Given the description of an element on the screen output the (x, y) to click on. 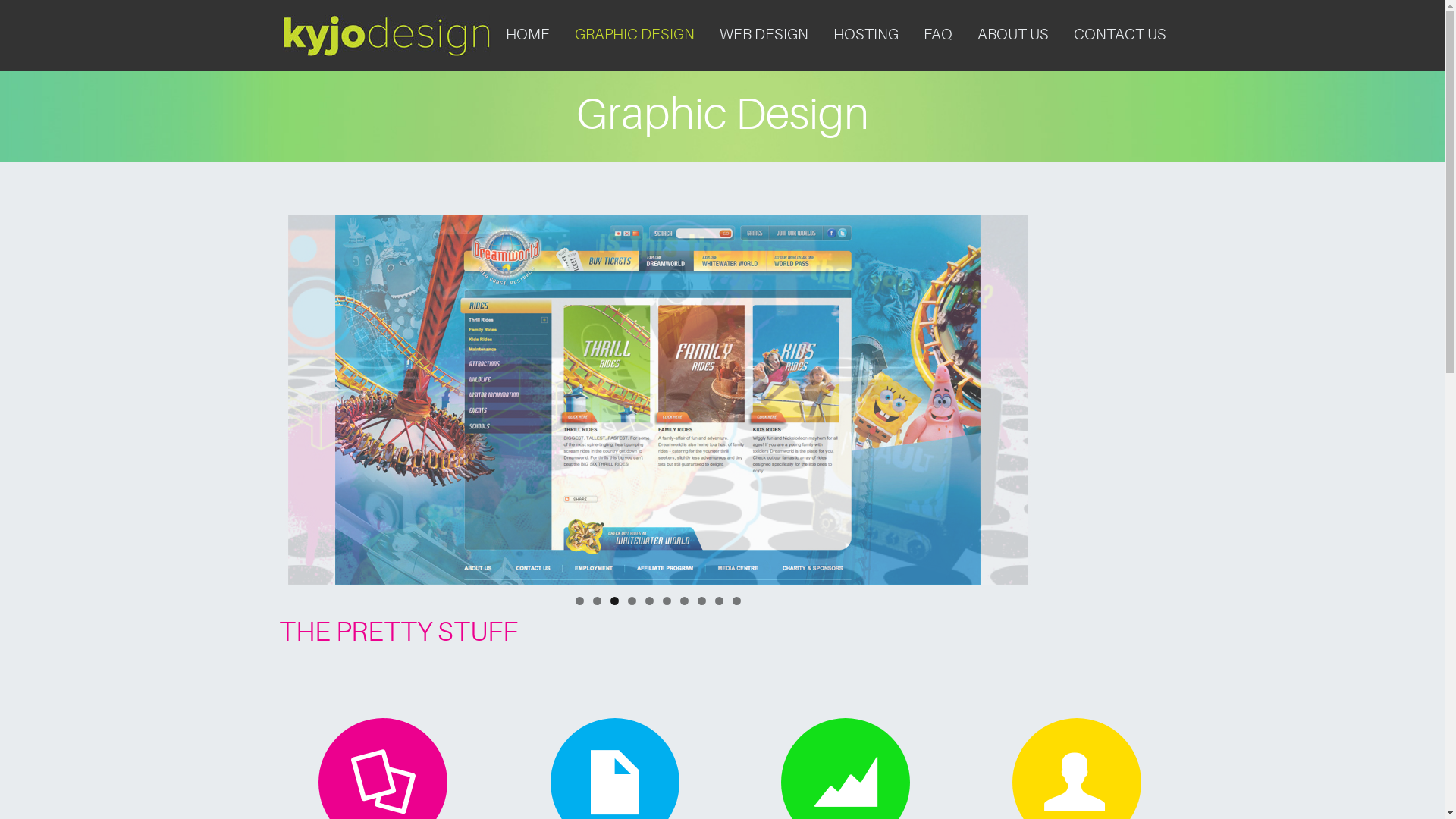
10 Element type: text (736, 600)
CONTACT US Element type: text (1118, 34)
7 Element type: text (683, 600)
KYJO Design Element type: hover (386, 25)
GRAPHIC DESIGN Element type: text (633, 34)
HOSTING Element type: text (866, 34)
1 Element type: text (578, 600)
2 Element type: hover (658, 399)
ABOUT US Element type: text (1013, 34)
9 Element type: text (718, 600)
8 Element type: text (701, 600)
HOME Element type: text (527, 34)
5 Element type: text (648, 600)
FAQ Element type: text (937, 34)
WEB DESIGN Element type: text (763, 34)
3 Element type: text (613, 600)
2 Element type: text (597, 600)
6 Element type: text (666, 600)
4 Element type: text (631, 600)
